Given the description of an element on the screen output the (x, y) to click on. 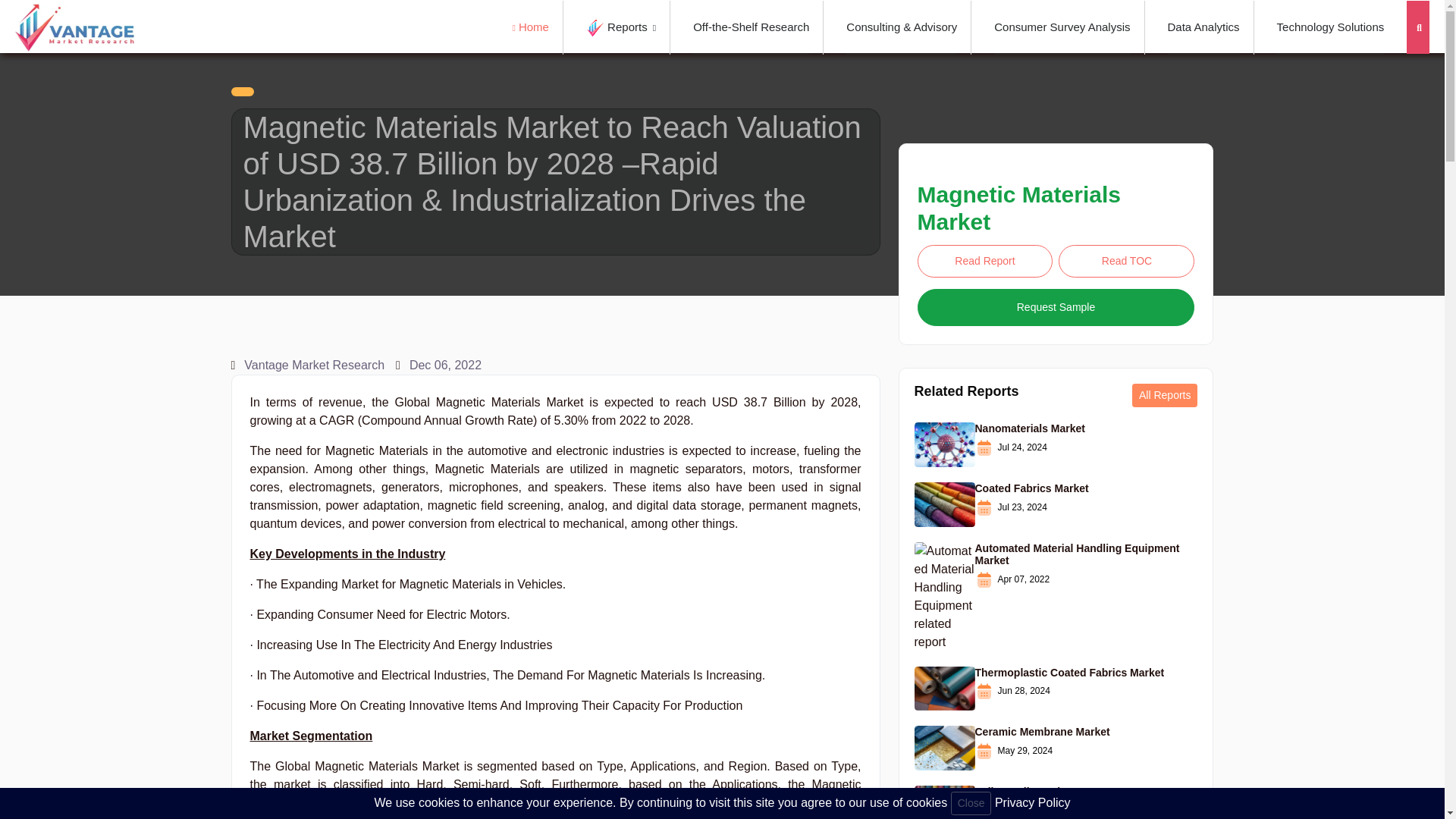
Off-the-Shelf Research (751, 27)
Read TOC (1125, 260)
Read Report (984, 260)
Consumer Survey Analysis (1061, 27)
All Reports (1164, 395)
Request Sample (1056, 307)
Data Analytics (1203, 27)
Reports (621, 27)
Technology Solutions (1330, 27)
